Given the description of an element on the screen output the (x, y) to click on. 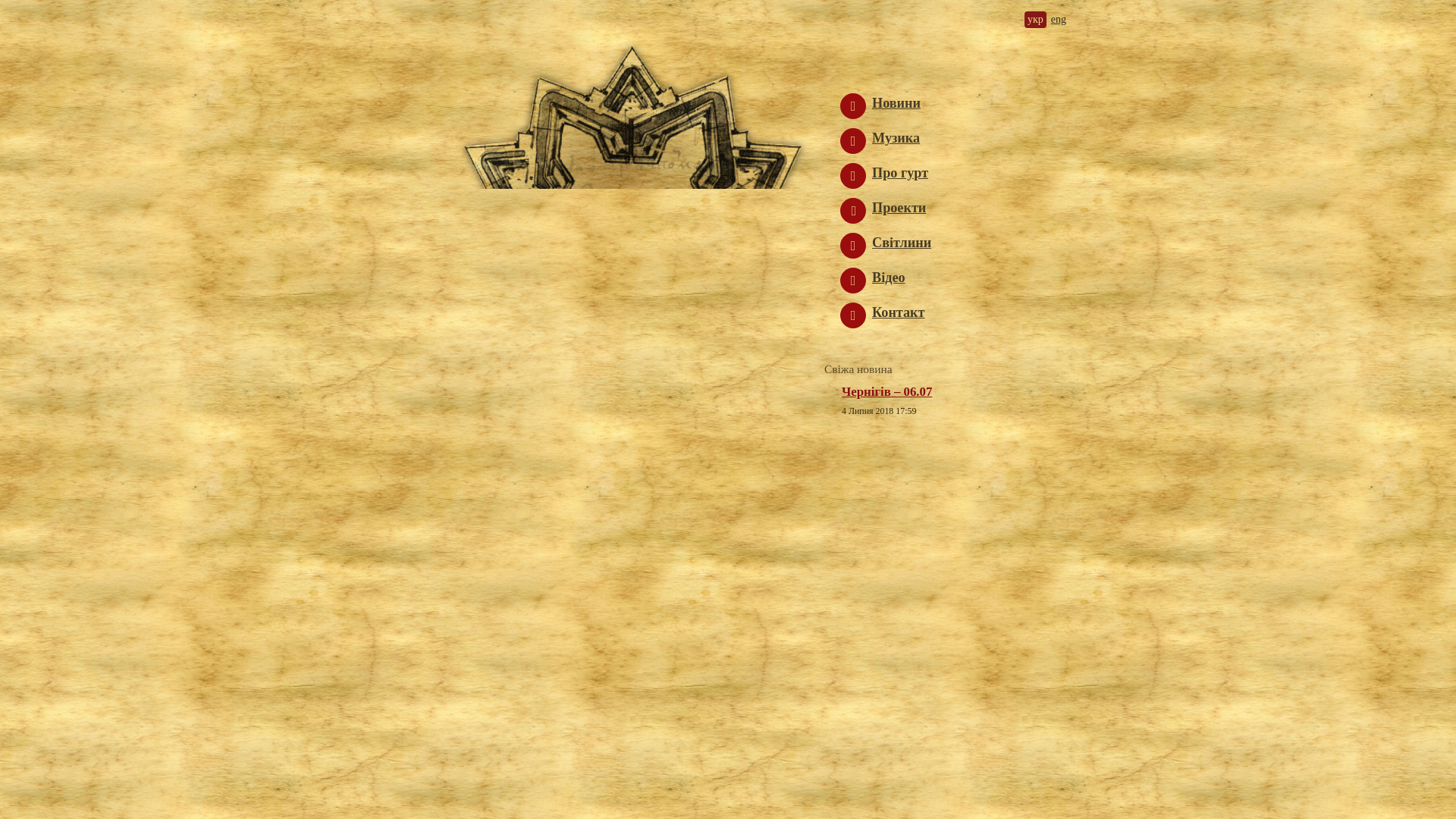
eng (1058, 19)
